Given the description of an element on the screen output the (x, y) to click on. 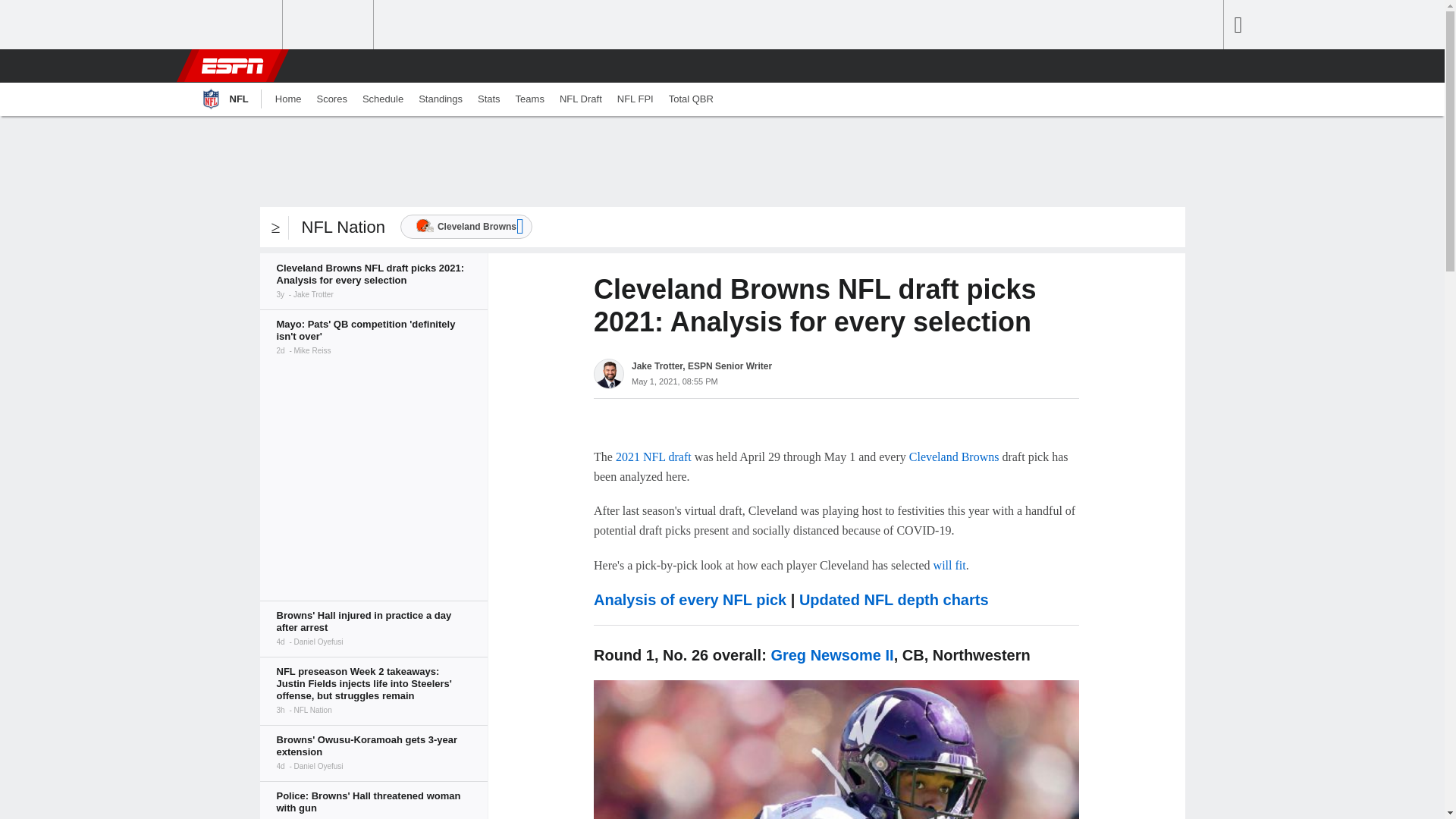
Home (287, 99)
ESPN (231, 65)
NFL (222, 99)
